Given the description of an element on the screen output the (x, y) to click on. 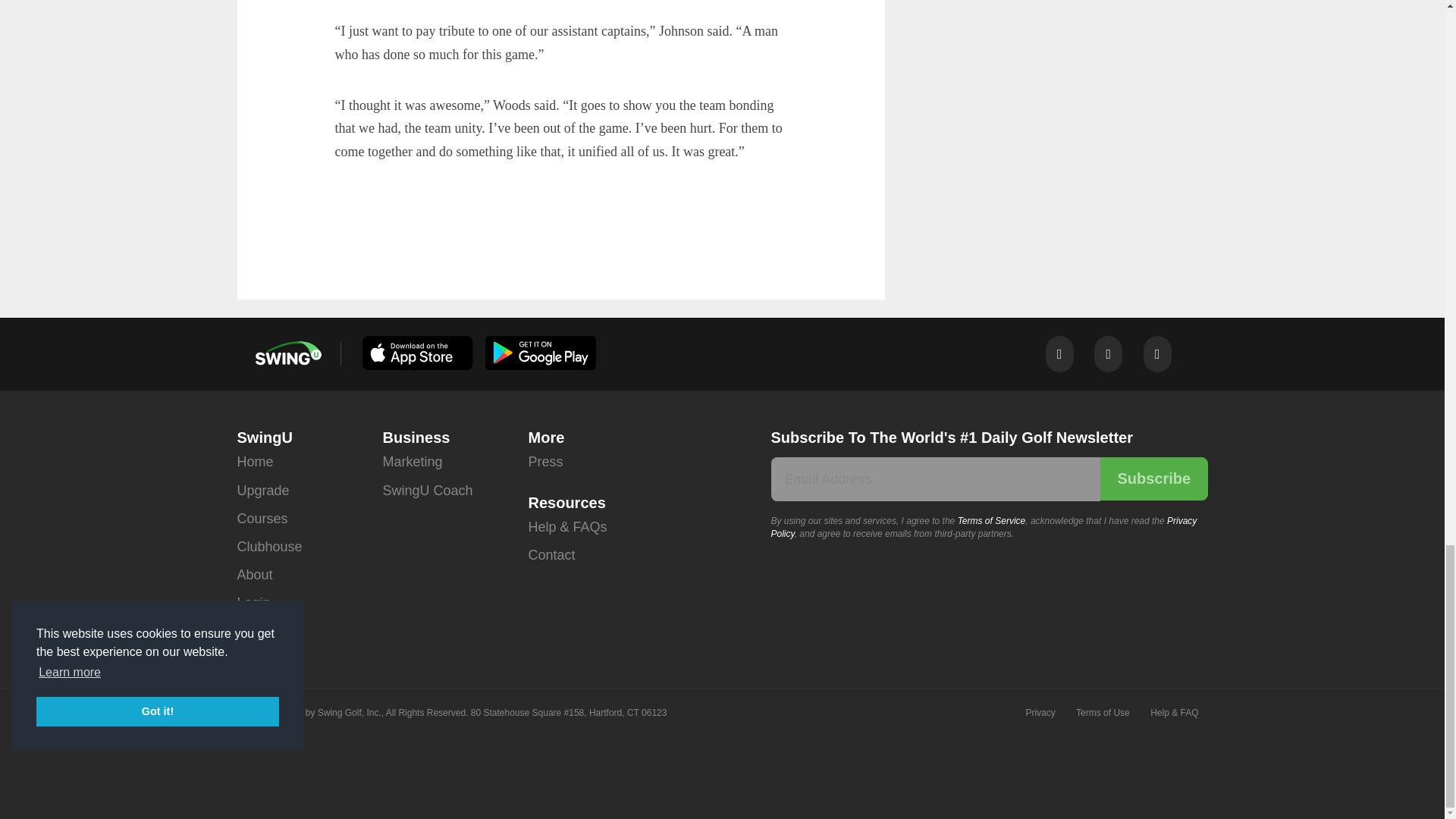
Terms of Service (992, 520)
Contact (551, 555)
Privacy Policy (983, 526)
Clubhouse (268, 547)
Subscribe (1153, 478)
Upgrade (261, 490)
Press (544, 461)
Courses (260, 519)
Login (252, 602)
SwingU Coach (426, 490)
Terms of Use (1102, 712)
About (253, 574)
Marketing (411, 461)
Privacy (1039, 712)
Home (254, 461)
